Given the description of an element on the screen output the (x, y) to click on. 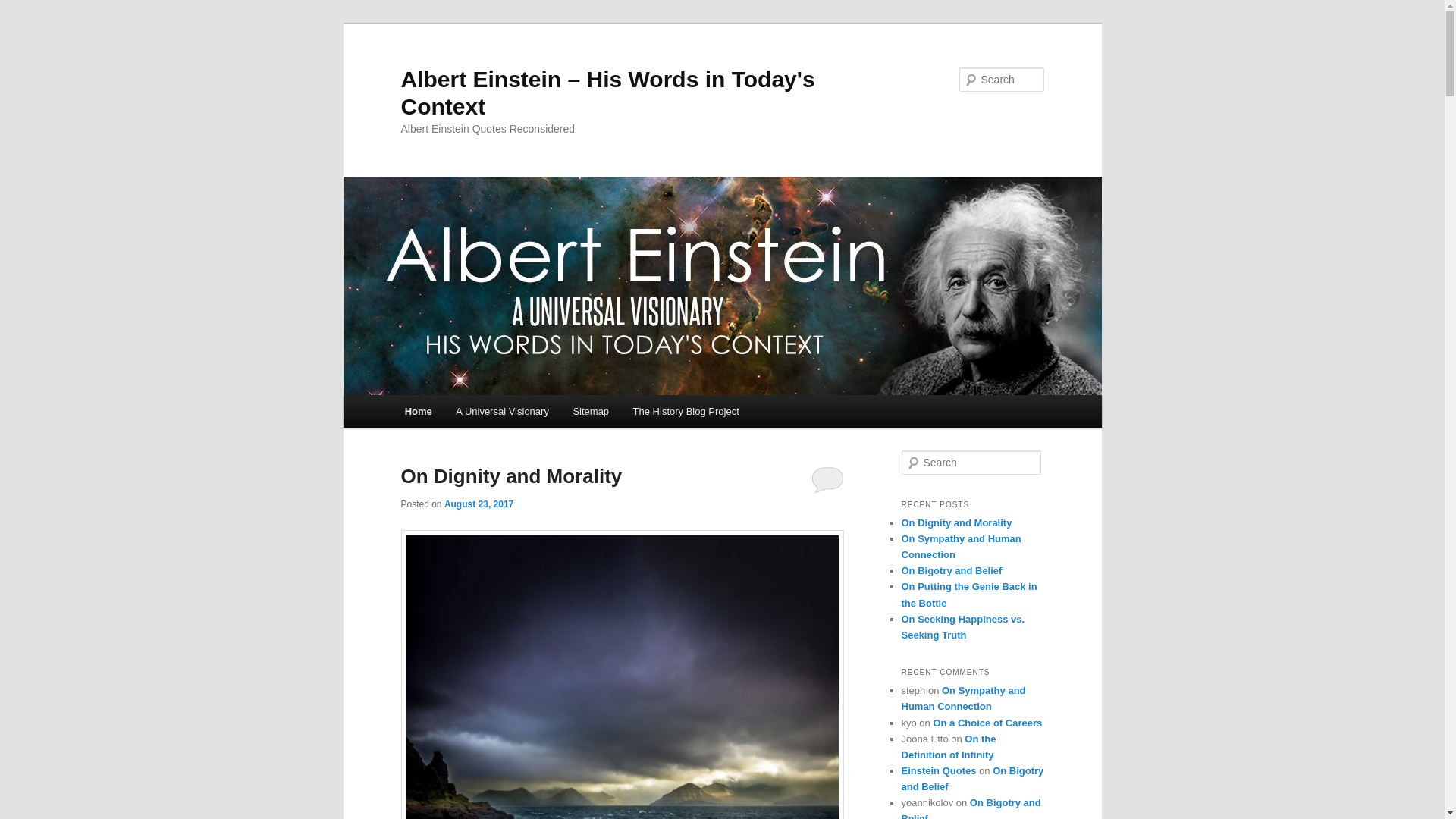
6:41 pm (478, 503)
August 23, 2017 (478, 503)
Home (418, 410)
Search (24, 8)
The History Blog Project (686, 410)
On Dignity and Morality (510, 476)
A Universal Visionary (502, 410)
Sitemap (590, 410)
